Given the description of an element on the screen output the (x, y) to click on. 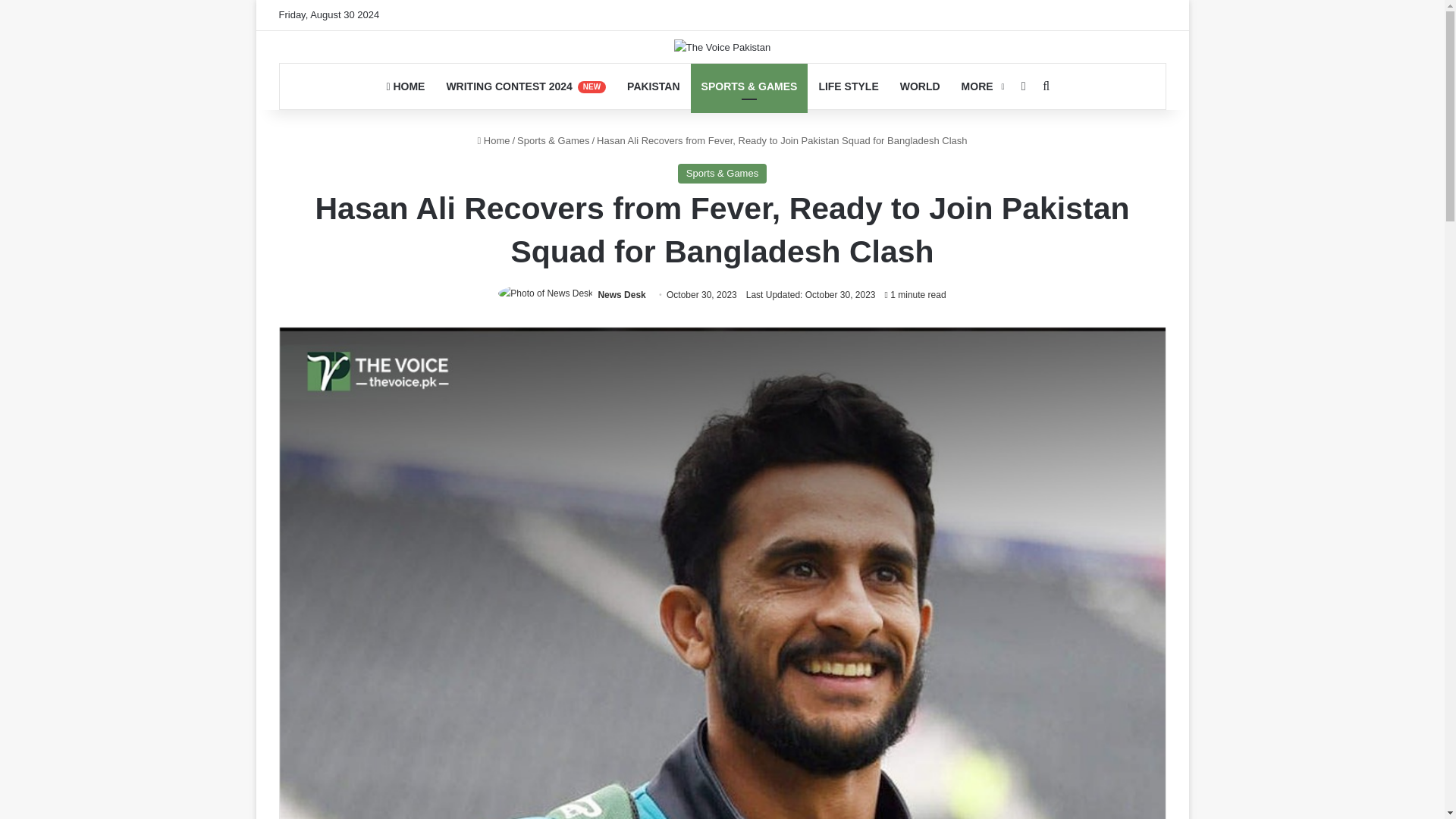
News Desk (620, 294)
LIFE STYLE (848, 85)
WRITING CONTEST 2024 NEW (525, 85)
PAKISTAN (652, 85)
WORLD (919, 85)
HOME (405, 85)
News Desk (620, 294)
Home (493, 140)
MORE (980, 85)
The Voice Pakistan (722, 46)
